Given the description of an element on the screen output the (x, y) to click on. 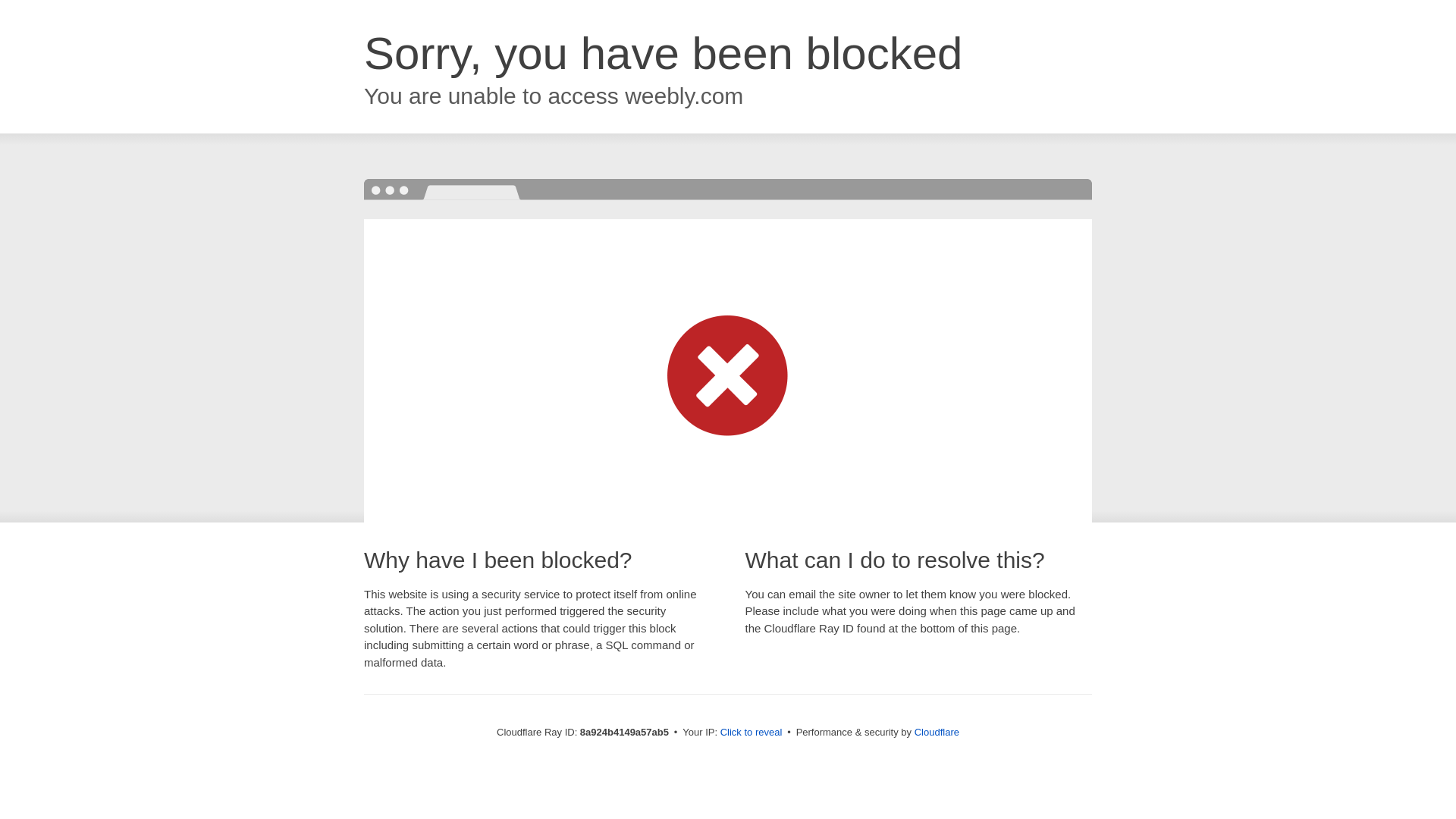
Cloudflare (936, 731)
Click to reveal (751, 732)
